Given the description of an element on the screen output the (x, y) to click on. 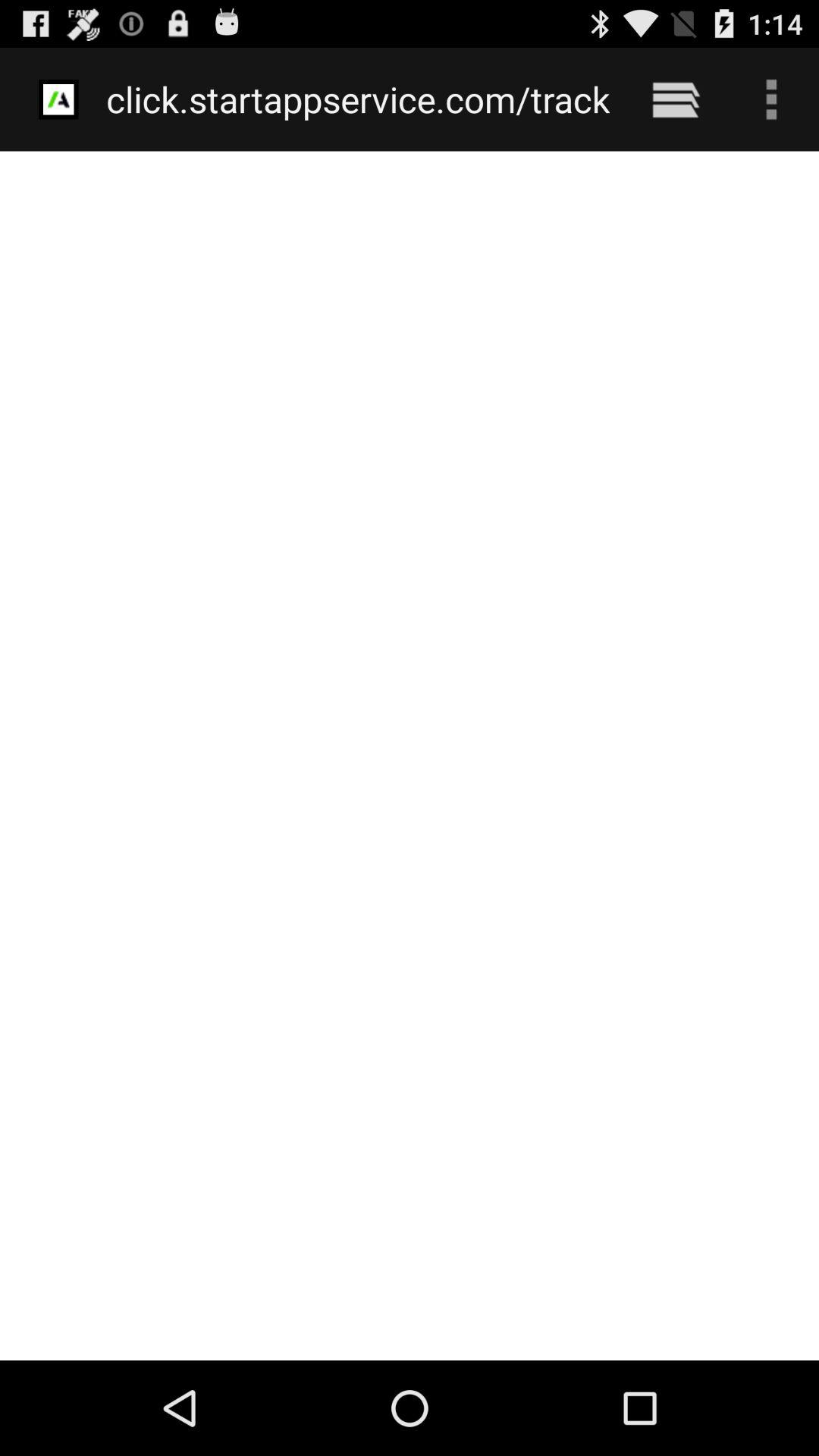
select the icon below click startappservice com icon (409, 755)
